Given the description of an element on the screen output the (x, y) to click on. 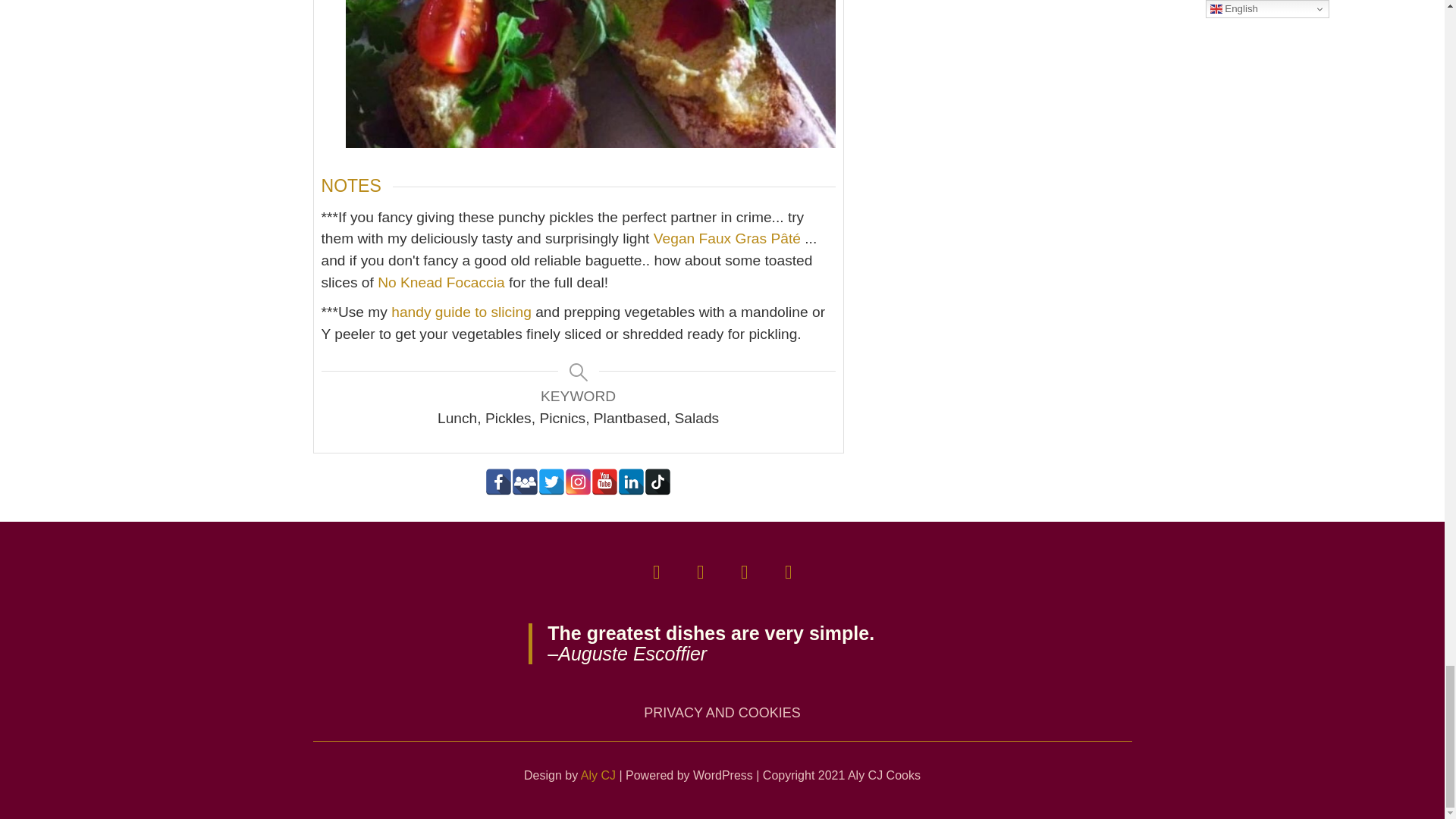
Instagram (577, 481)
No Knead Focaccia (440, 282)
LinkedIn (631, 481)
YouTube (604, 481)
Facebook Group (525, 481)
Facebook (498, 481)
handy guide to slicing (461, 311)
Twitter (551, 481)
TikTok (658, 481)
